Given the description of an element on the screen output the (x, y) to click on. 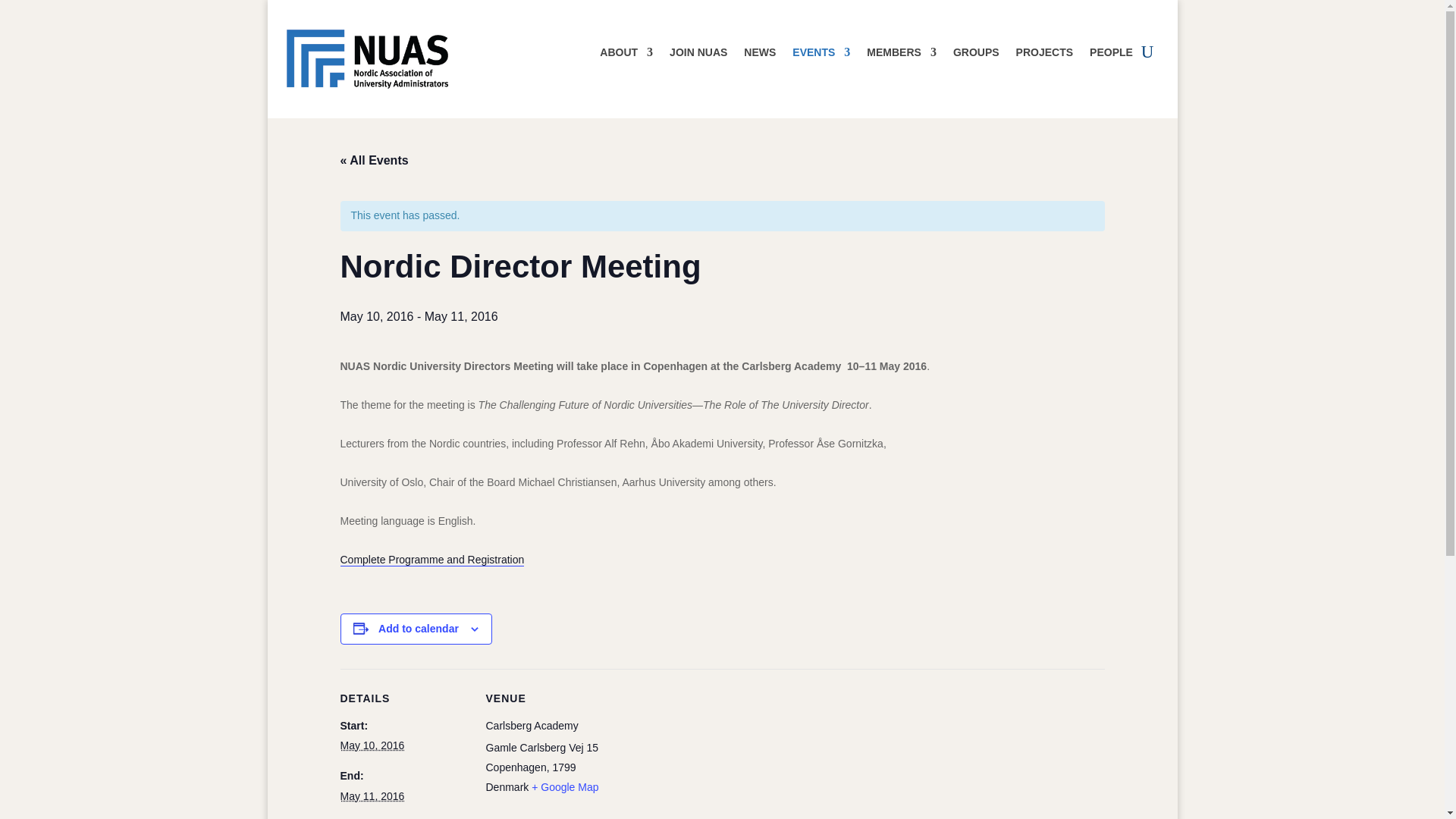
2016-05-11 (371, 796)
ABOUT (625, 54)
2016-05-10 (371, 745)
Click to view a Google Map (564, 787)
